Given the description of an element on the screen output the (x, y) to click on. 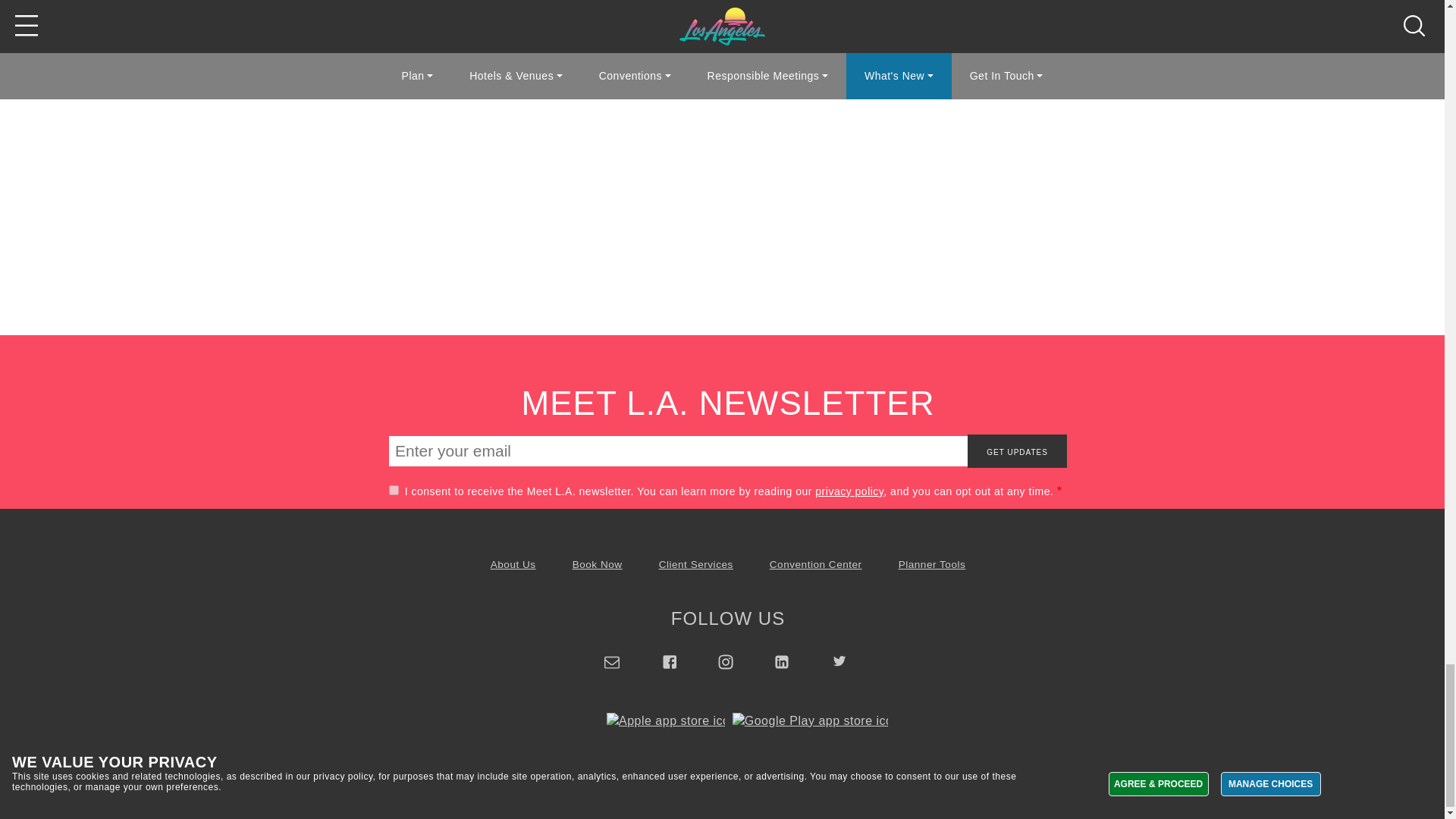
View more content by Discover Los Angeles (538, 3)
Get Updates (1017, 450)
1 (393, 490)
